Given the description of an element on the screen output the (x, y) to click on. 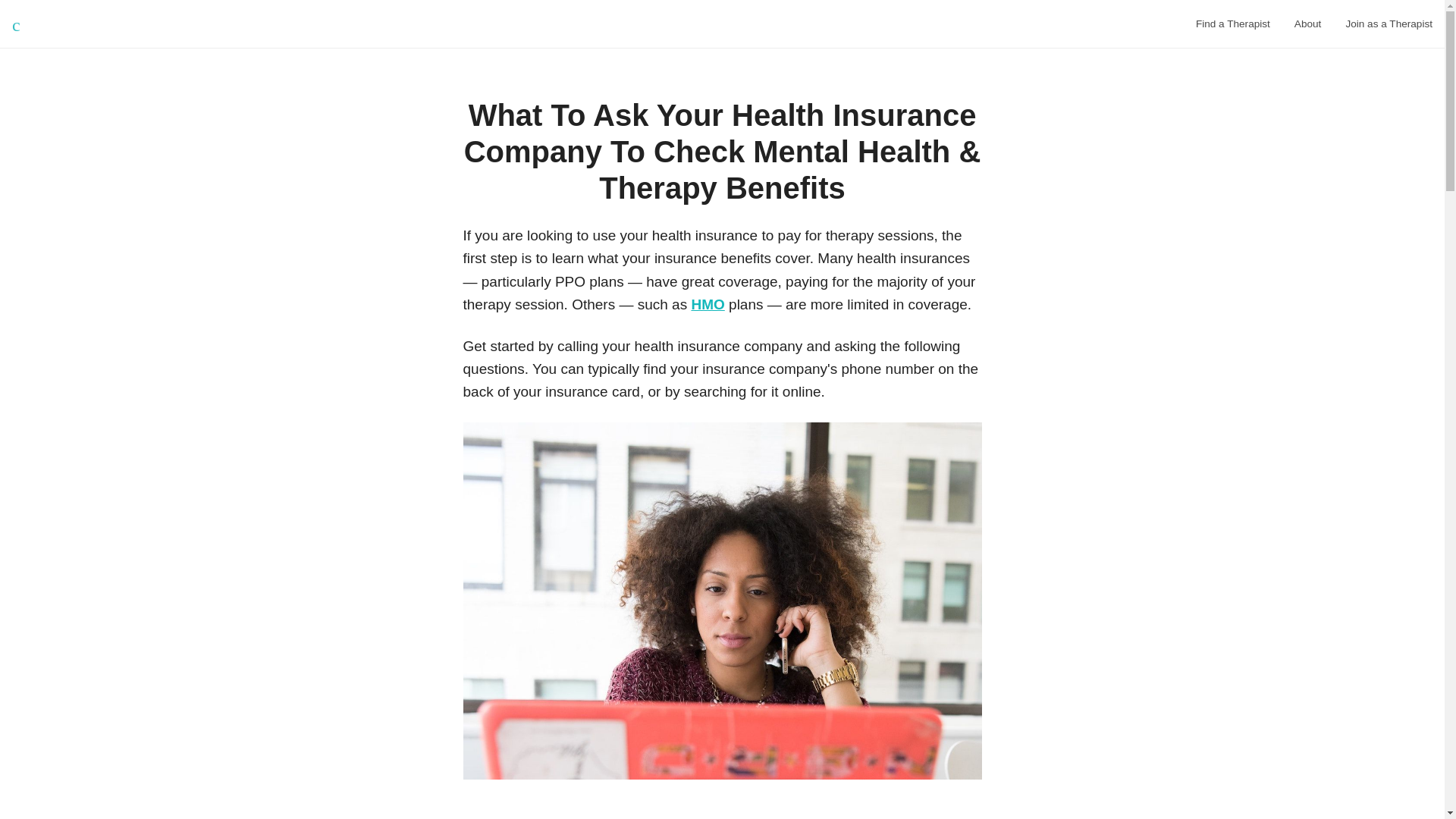
Find a Therapist (1232, 24)
HMO (706, 304)
About (1307, 24)
